Given the description of an element on the screen output the (x, y) to click on. 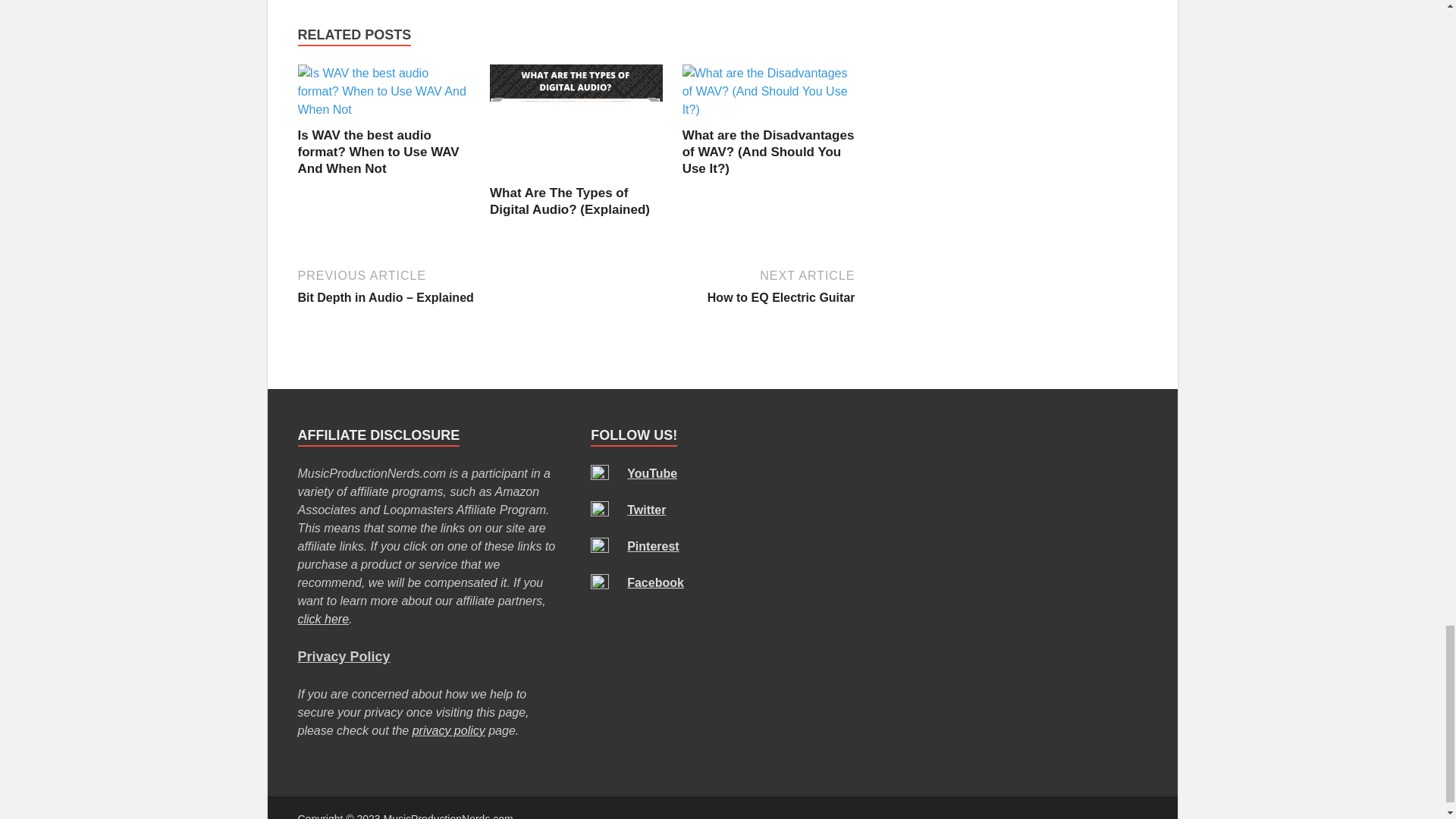
Is WAV the best audio format? When to Use WAV And When Not (377, 151)
Is WAV the best audio format? When to Use WAV And When Not (377, 151)
Is WAV the best audio format? When to Use WAV And When Not (383, 109)
